Given the description of an element on the screen output the (x, y) to click on. 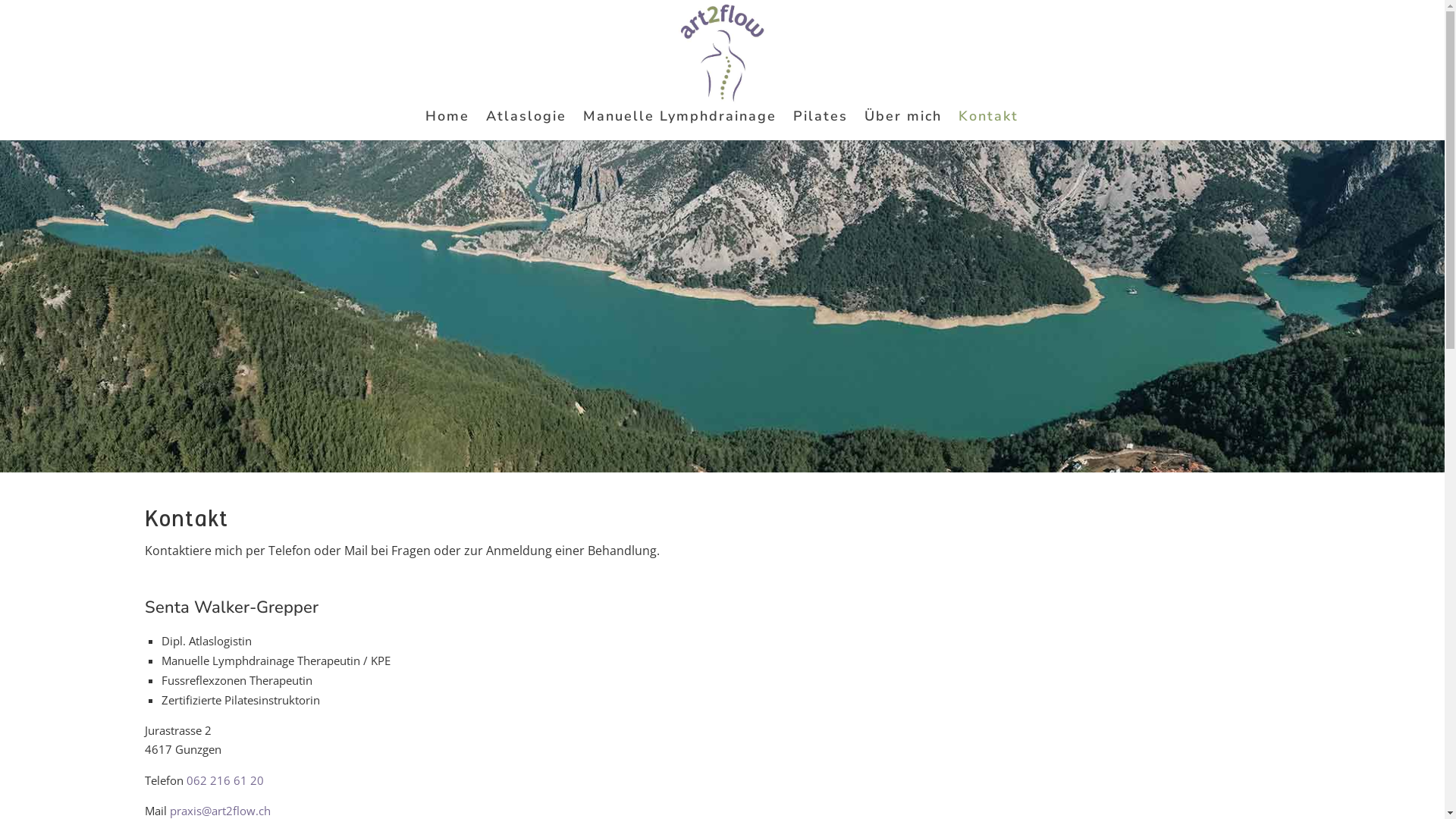
Kontakt Element type: text (988, 125)
Home Element type: text (446, 125)
Manuelle Lymphdrainage Element type: text (678, 125)
Atlaslogie Element type: text (525, 125)
praxis@art2flow.ch Element type: text (219, 810)
Pilates Element type: text (820, 125)
062 216 61 20 Element type: text (224, 779)
